Given the description of an element on the screen output the (x, y) to click on. 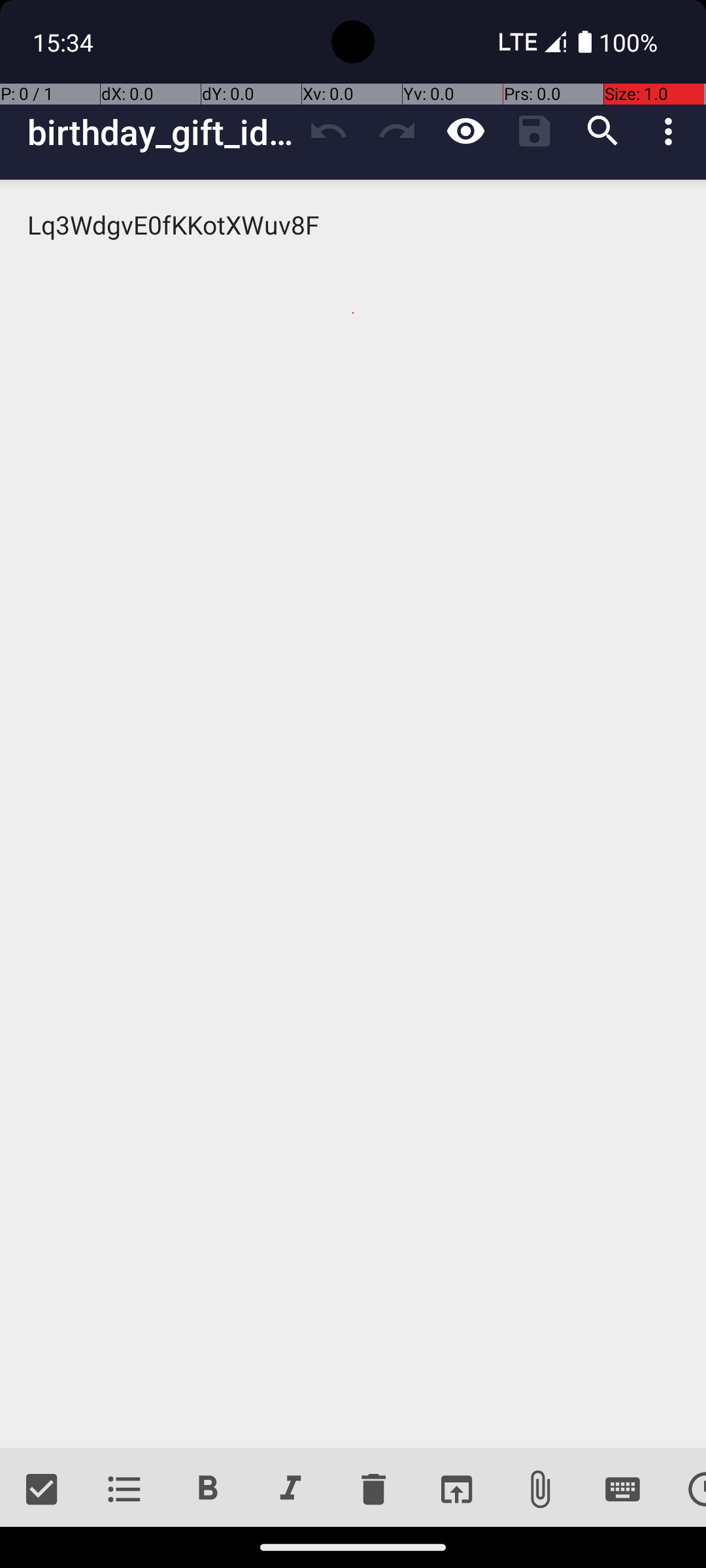
birthday_gift_ideas_mom_rPuG Element type: android.widget.TextView (160, 131)
Lq3WdgvE0fKKotXWuv8F
 Element type: android.widget.EditText (353, 813)
